Given the description of an element on the screen output the (x, y) to click on. 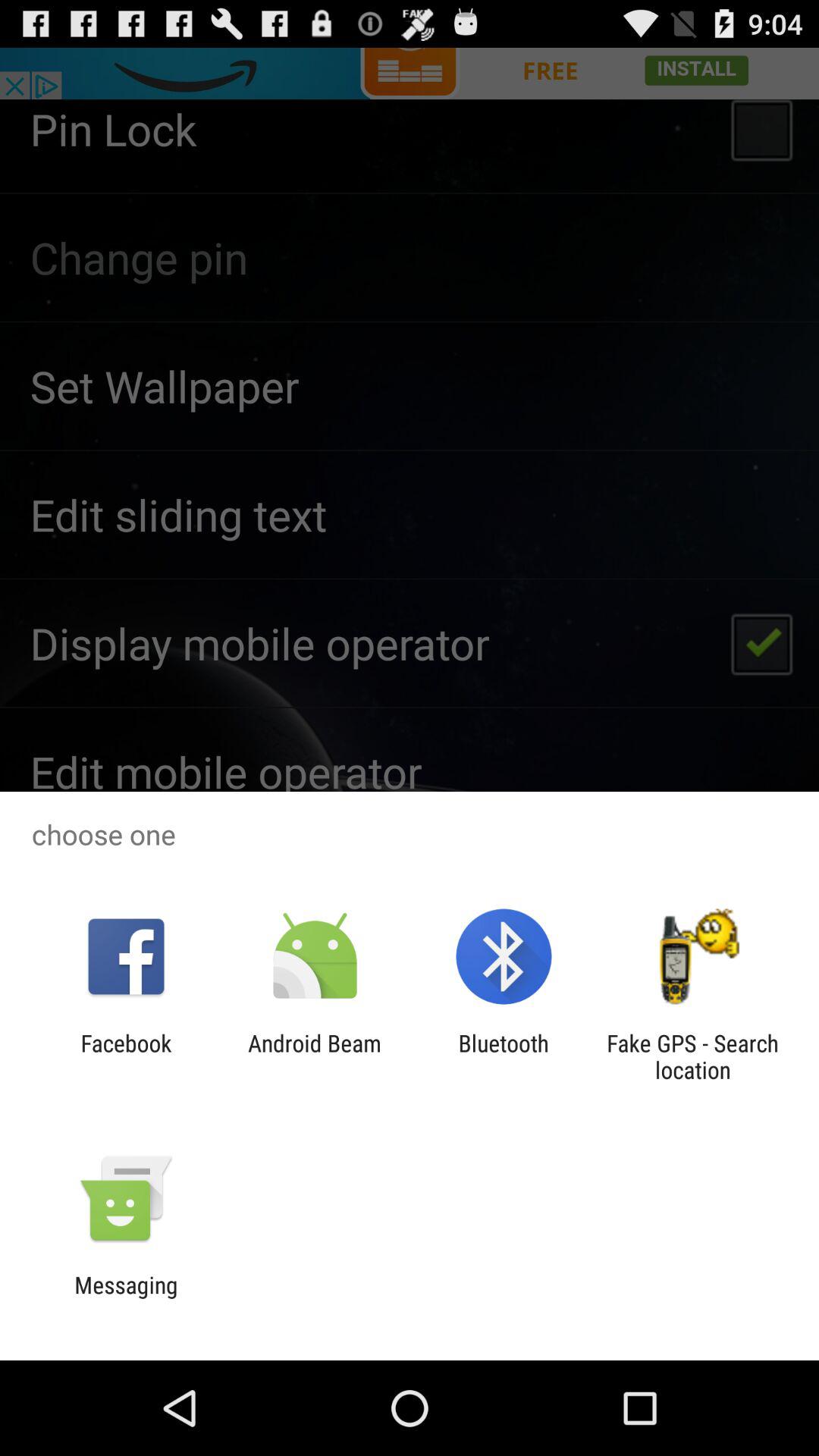
tap app at the bottom right corner (692, 1056)
